Given the description of an element on the screen output the (x, y) to click on. 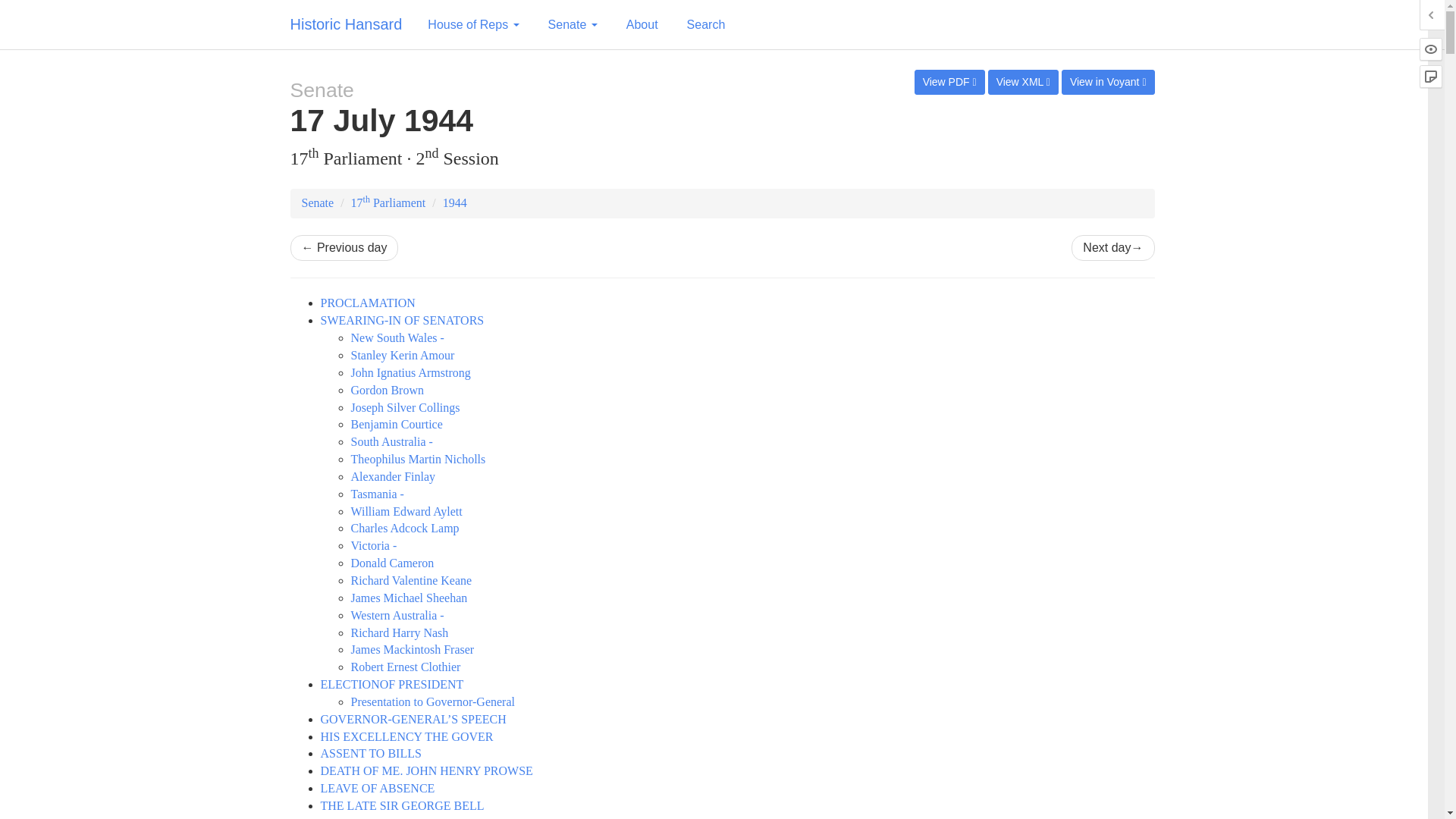
Benjamin Courtice (396, 423)
John Ignatius Armstrong (410, 372)
Historic Hansard (346, 24)
Search (706, 24)
James Michael Sheehan (408, 597)
South Australia - (391, 440)
Joseph Silver Collings (405, 407)
Stanley Kerin Amour (402, 354)
Gordon Brown (386, 390)
View XML (1023, 82)
Donald Cameron (391, 562)
Victoria - (373, 545)
William Edward Aylett (405, 511)
PROCLAMATION (367, 302)
Richard Valentine Keane (410, 580)
